Given the description of an element on the screen output the (x, y) to click on. 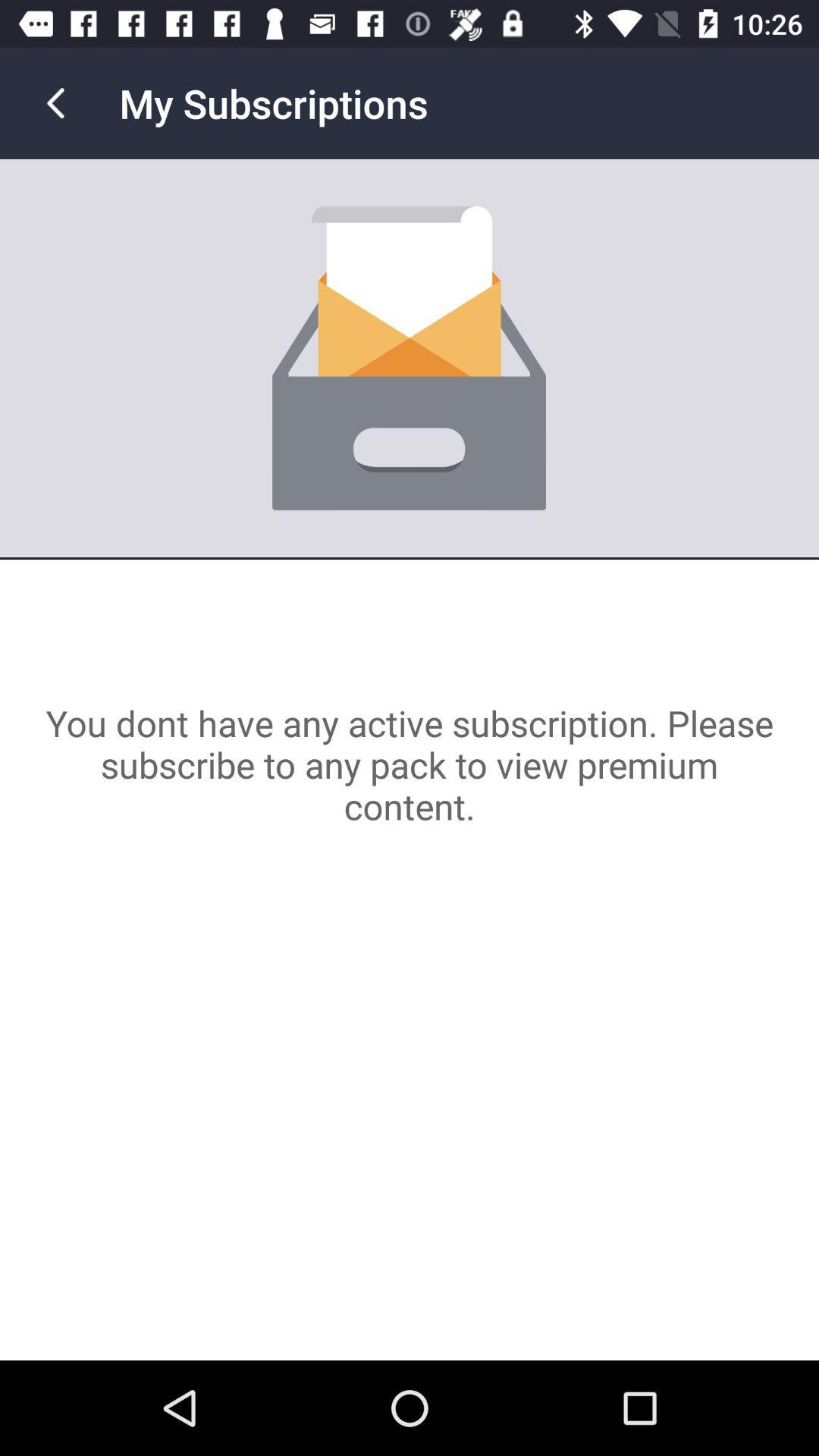
press the icon at the top left corner (55, 103)
